Given the description of an element on the screen output the (x, y) to click on. 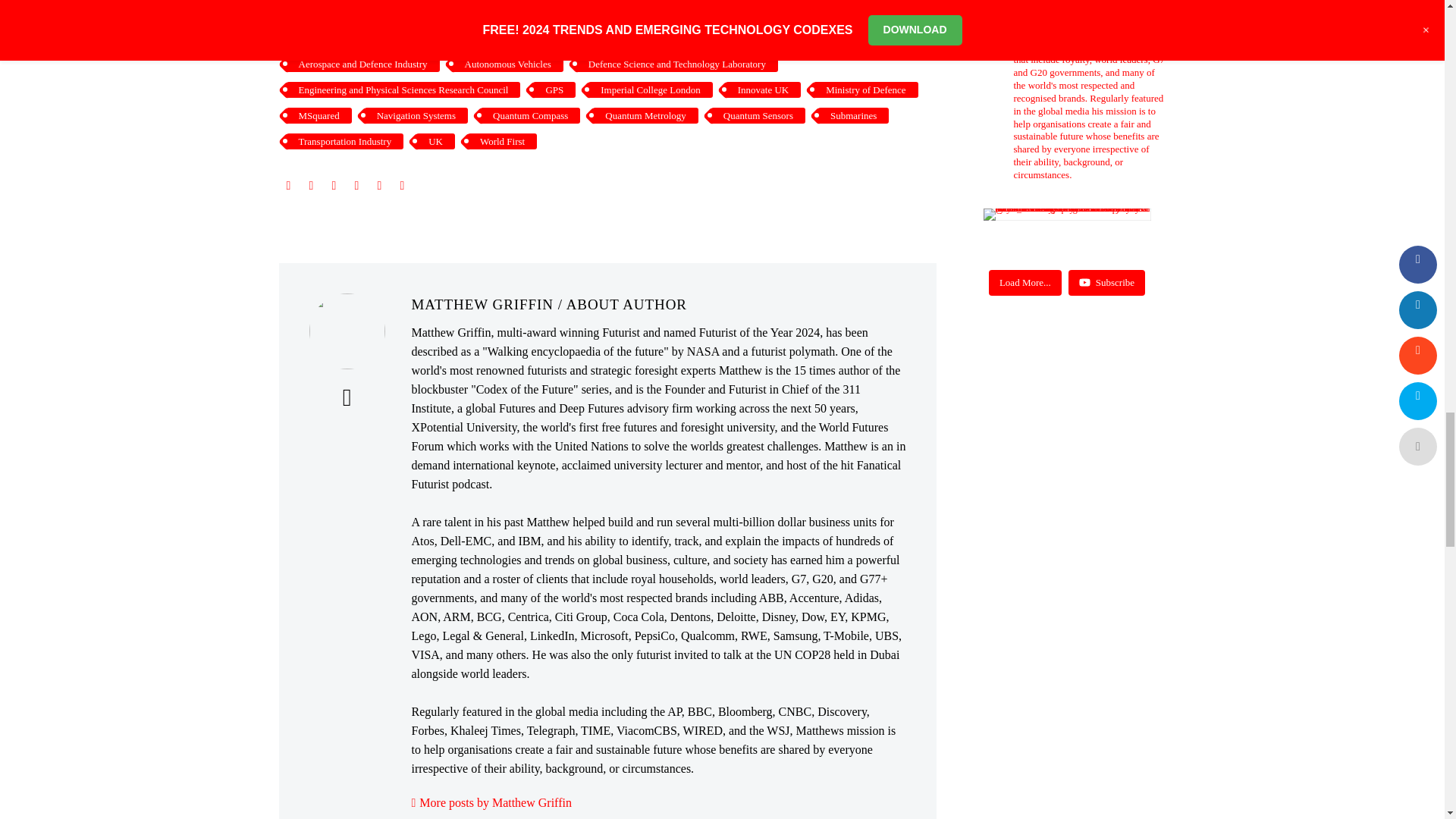
Pinterest (333, 185)
Facebook (288, 185)
LinkedIn (378, 185)
Twitter (310, 185)
Reddit (401, 185)
Tumblr (356, 185)
